Given the description of an element on the screen output the (x, y) to click on. 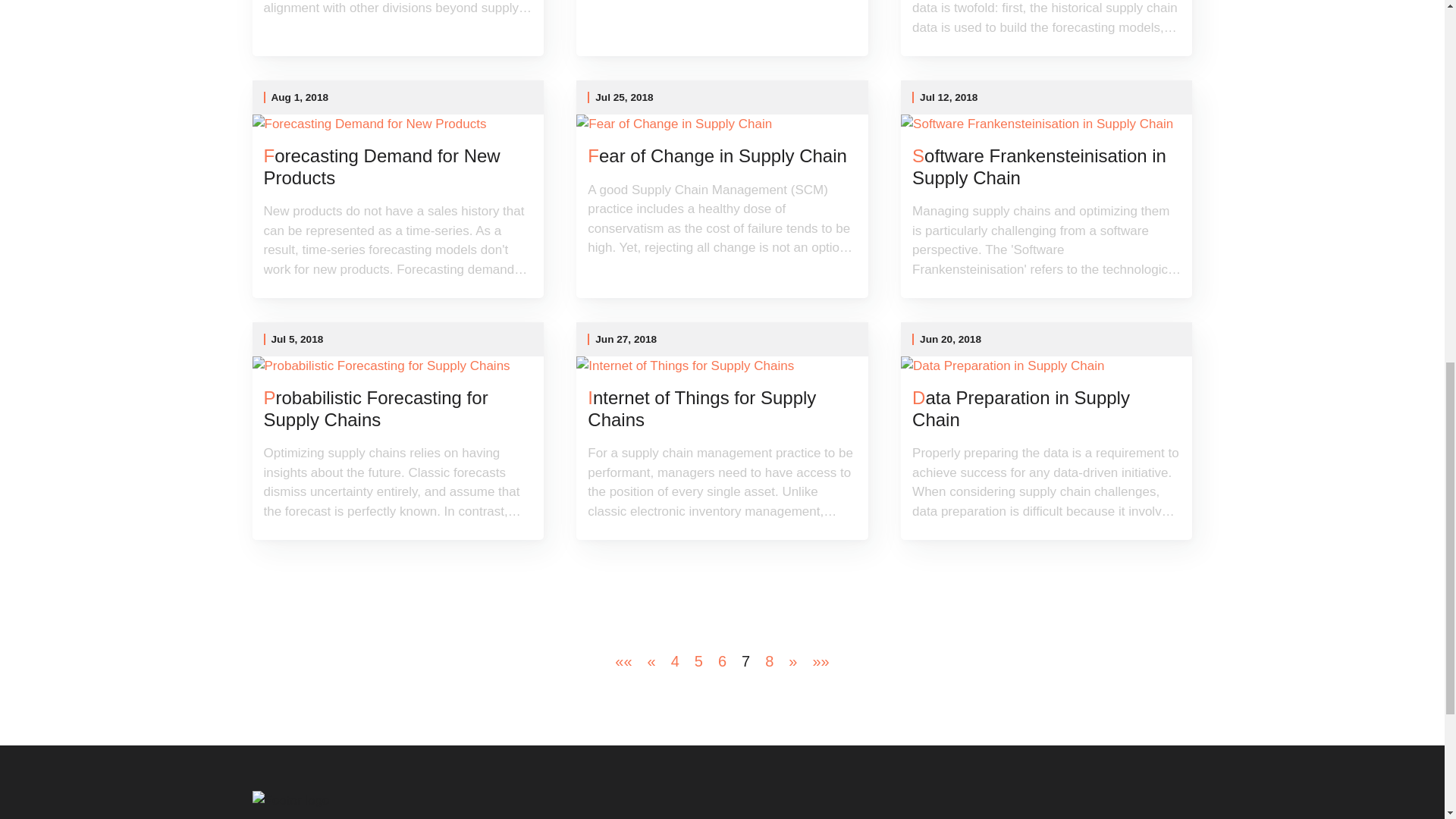
Fear of Change in Supply Chain (722, 156)
Forecasting Demand for New Products (397, 167)
